Given the description of an element on the screen output the (x, y) to click on. 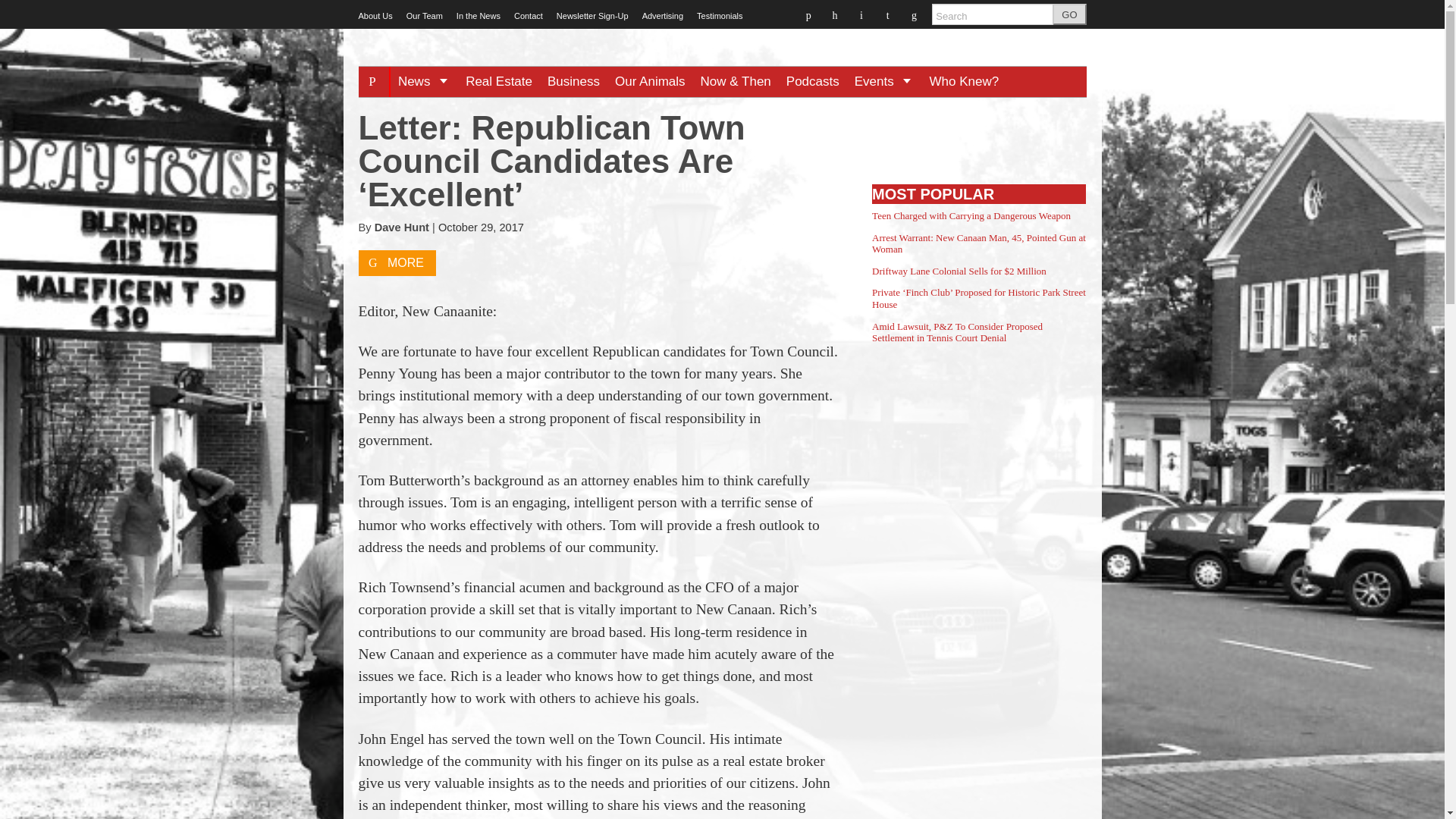
In the News (478, 15)
Our Team (424, 15)
GO (1069, 14)
Advertising (662, 15)
Newsletter Sign-Up (592, 15)
Subscribe (901, 652)
About Us (374, 15)
Contact (528, 15)
Testimonials (719, 15)
